Given the description of an element on the screen output the (x, y) to click on. 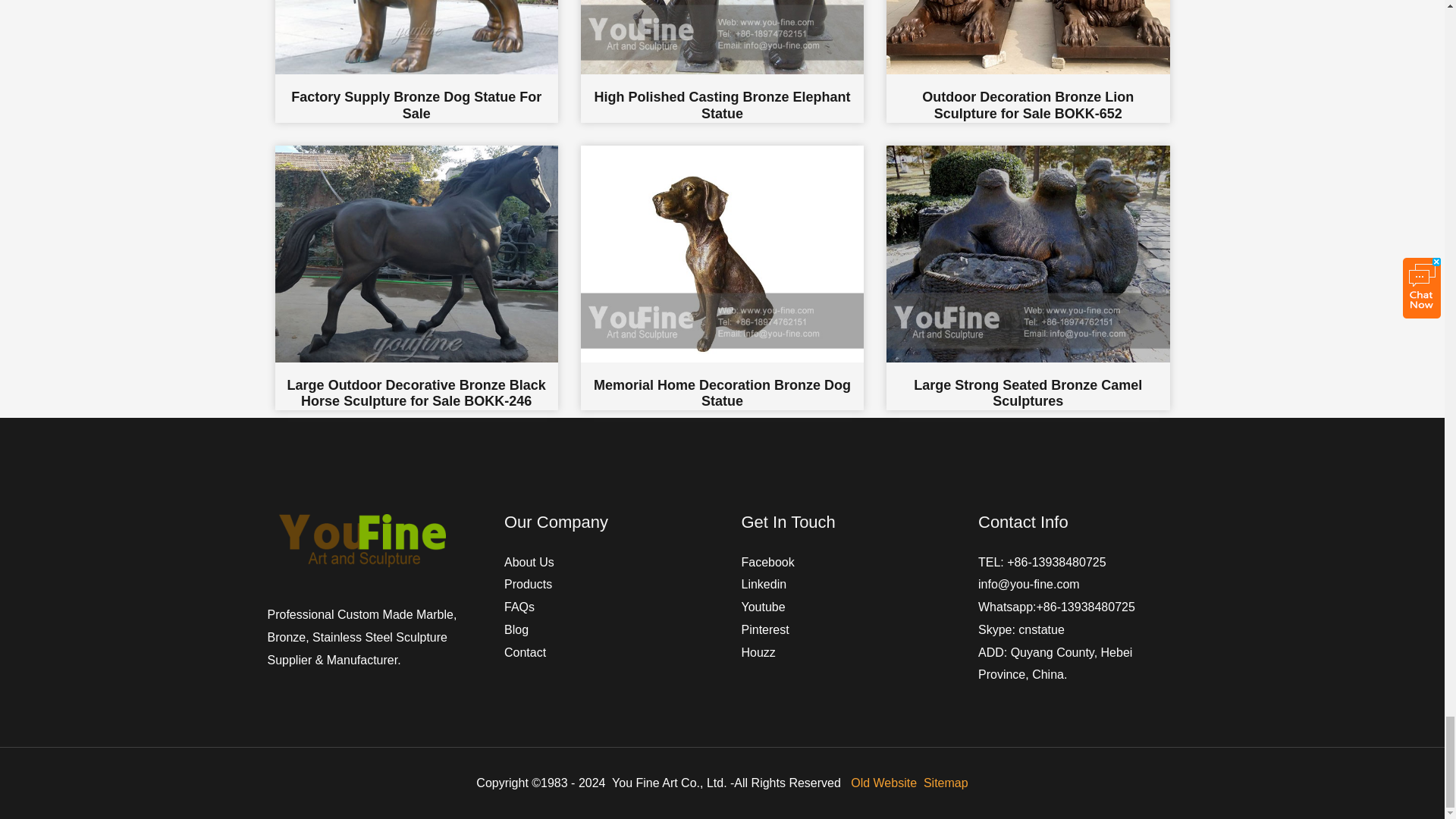
Factory Supply Bronze Dog Statue For Sale (416, 61)
High Polished Casting Bronze Elephant Statue (721, 61)
Outdoor Decoration Bronze Lion Sculpture for Sale BOKK-652 (1027, 61)
Memorial Home Decoration Bronze Dog Statue (721, 277)
Large Strong Seated Bronze Camel Sculptures (1027, 277)
